Given the description of an element on the screen output the (x, y) to click on. 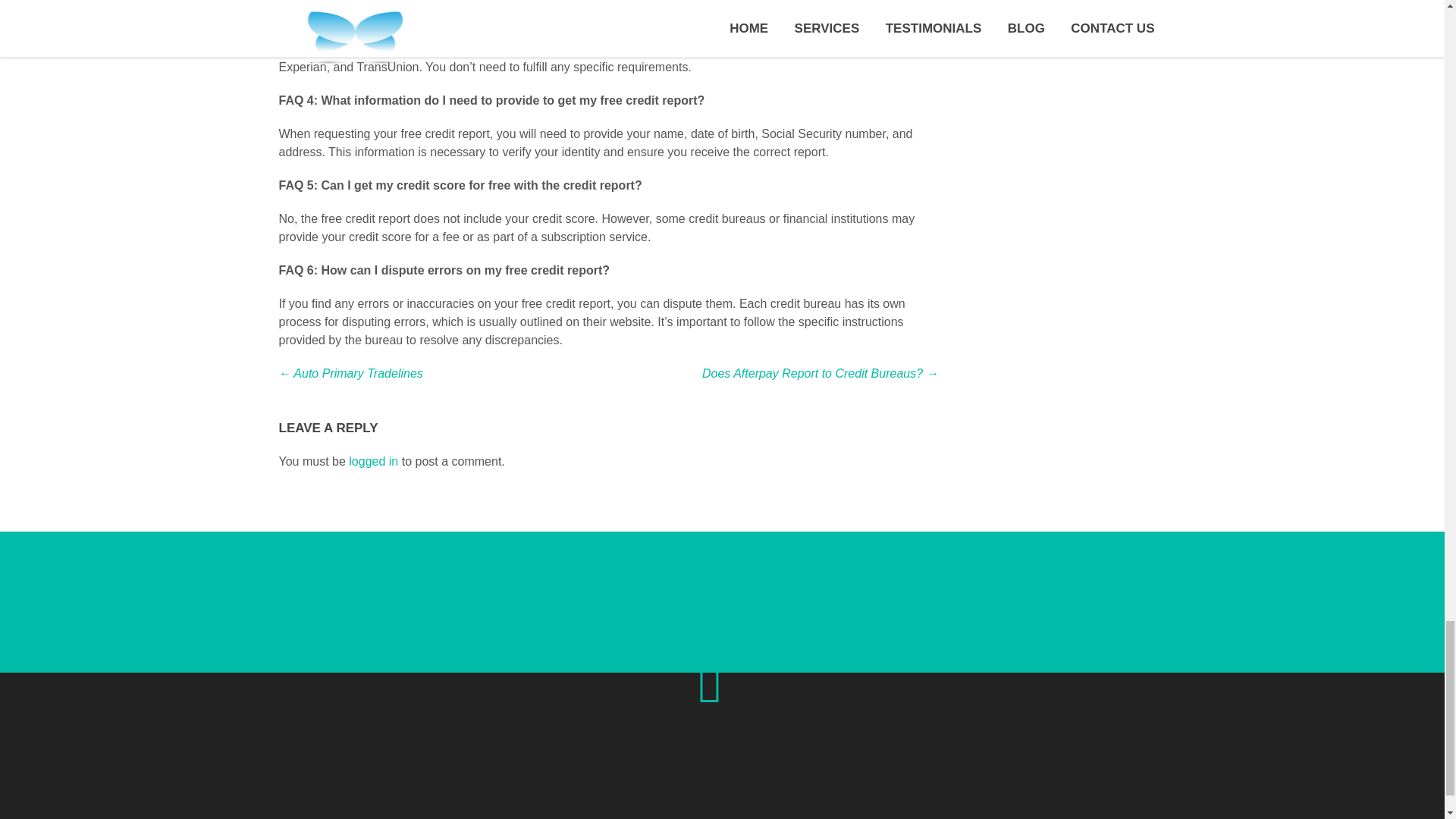
logged in (373, 461)
